Given the description of an element on the screen output the (x, y) to click on. 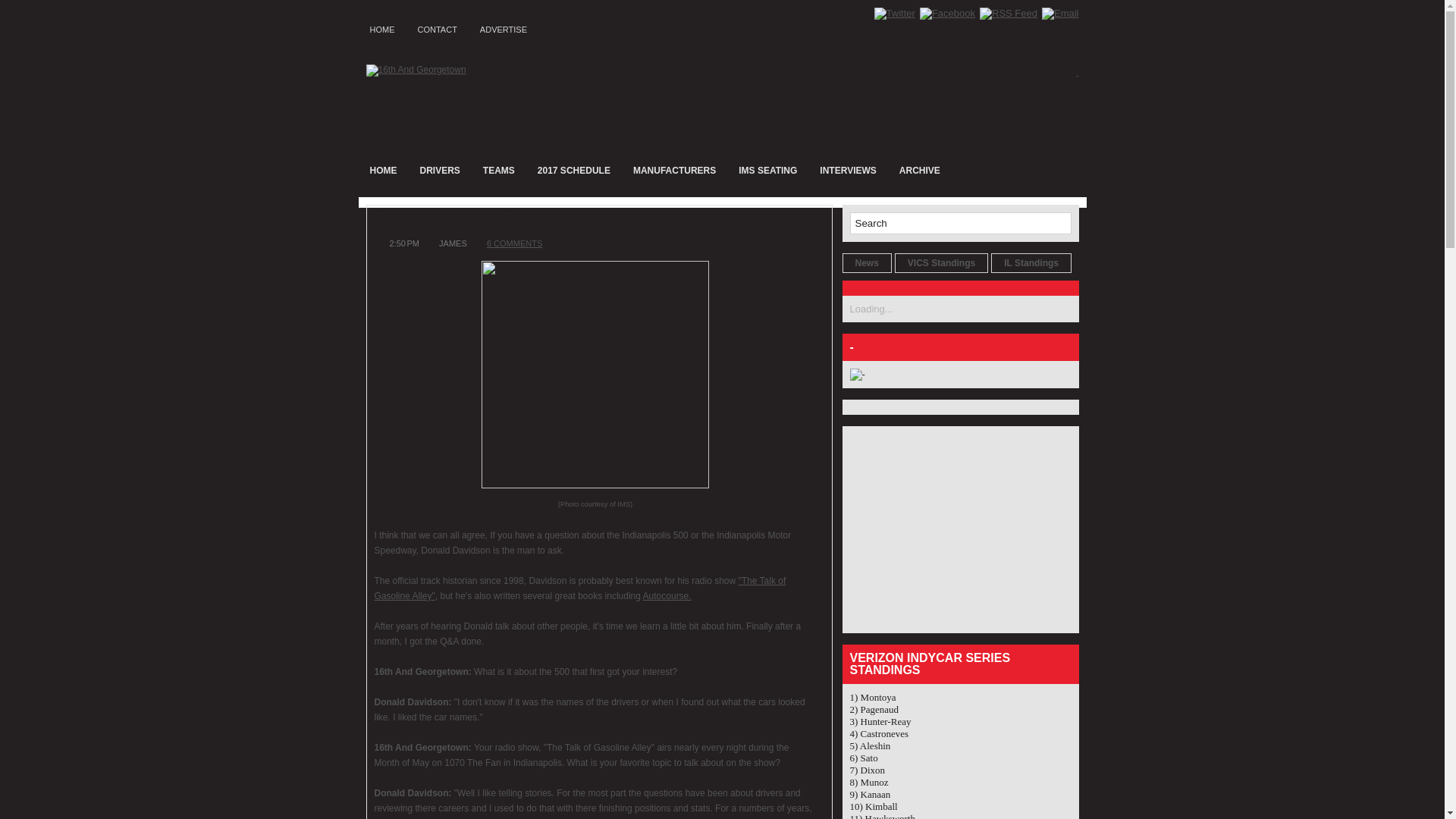
HOME Element type: text (381, 27)
Type and hit enter Element type: hover (959, 223)
6 COMMENTS Element type: text (514, 242)
MANUFACTURERS Element type: text (674, 169)
Loading... Element type: text (870, 308)
RSS Feed Element type: hover (1008, 13)
TEAMS Element type: text (498, 169)
ARCHIVE Element type: text (919, 169)
Autocourse. Element type: text (667, 595)
Q&A With The Great Donald Davidson Element type: text (599, 222)
VICS Standings Element type: text (941, 263)
IL Standings Element type: text (1031, 263)
Email Element type: hover (1060, 13)
DRIVERS Element type: text (438, 169)
HOME Element type: text (382, 169)
CONTACT Element type: text (437, 27)
2017 SCHEDULE Element type: text (573, 169)
IMS SEATING Element type: text (767, 169)
Advertisement Element type: hover (943, 528)
ADVERTISE Element type: text (503, 27)
News Element type: text (866, 263)
Twitter Element type: hover (894, 13)
"The Talk of Gasoline Alley" Element type: text (580, 588)
Facebook Element type: hover (947, 13)
INTERVIEWS Element type: text (847, 169)
